Given the description of an element on the screen output the (x, y) to click on. 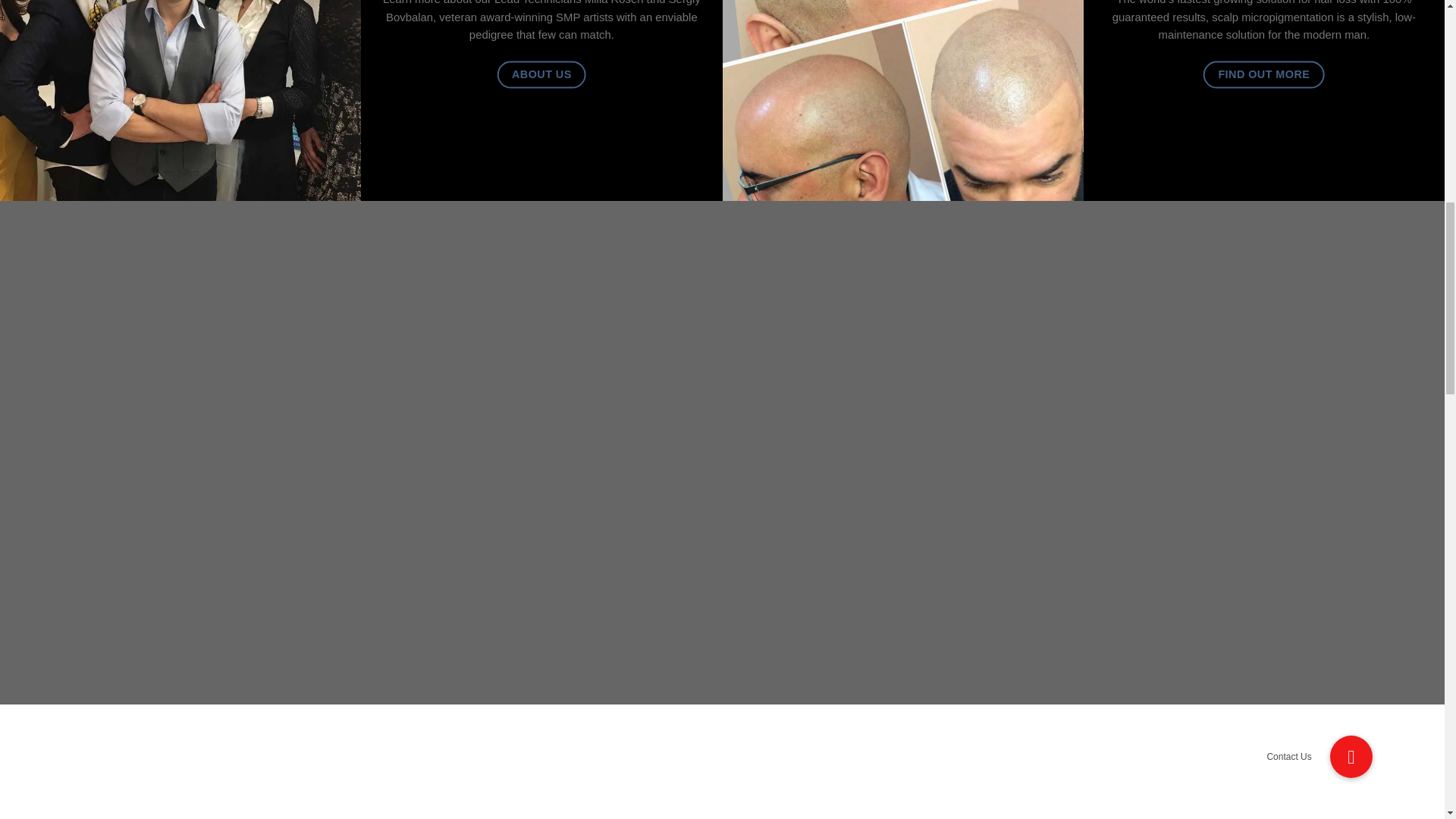
FIND OUT MORE (1264, 74)
ABOUT US (541, 74)
